Given the description of an element on the screen output the (x, y) to click on. 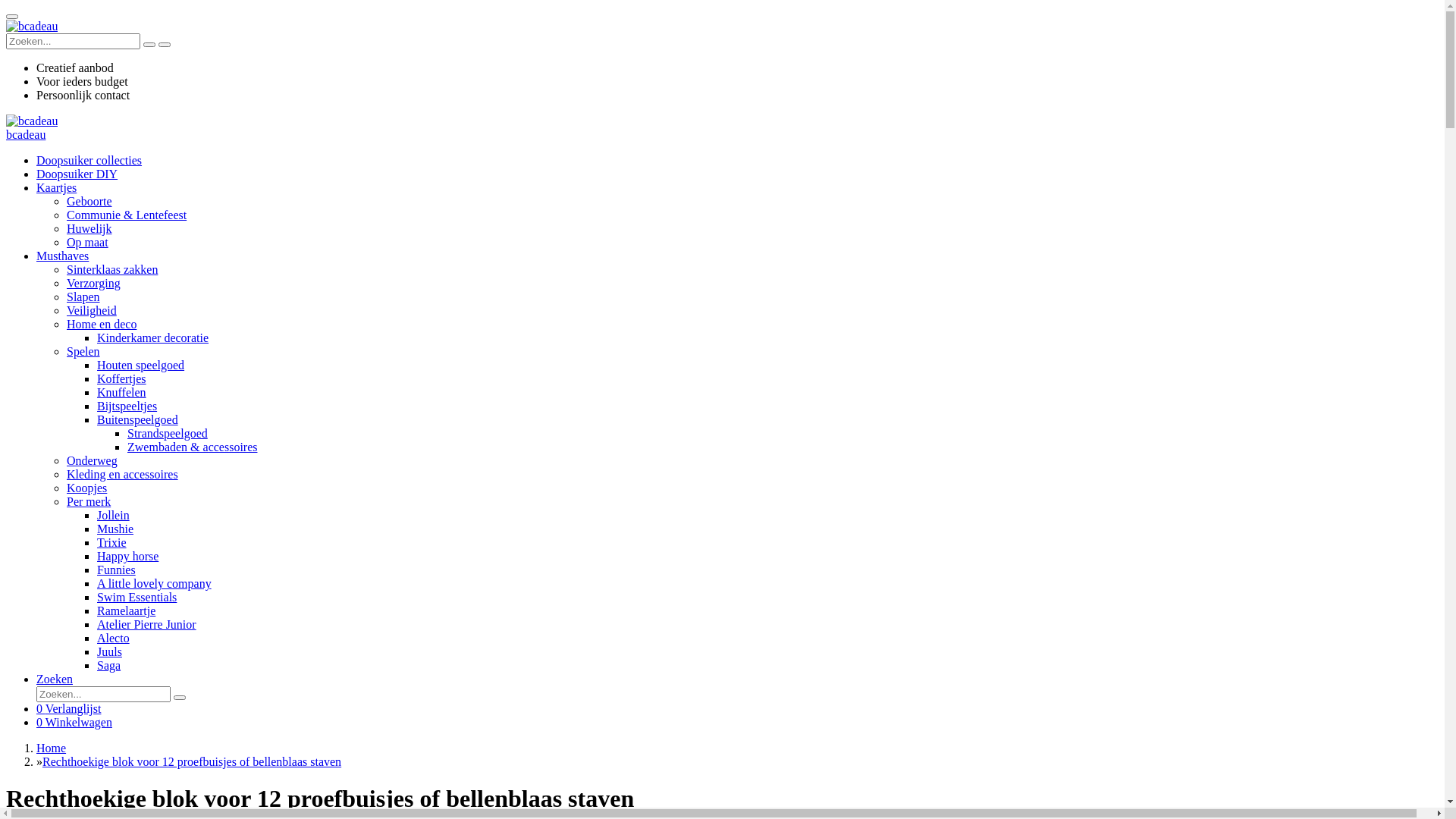
bcadeau Element type: hover (31, 121)
Funnies Element type: text (116, 569)
Bijtspeeltjes Element type: text (126, 405)
0 Winkelwagen Element type: text (74, 721)
Juuls Element type: text (109, 651)
Musthaves Element type: text (62, 255)
bcadeau Element type: hover (31, 26)
Doopsuiker collecties Element type: text (88, 159)
Geboorte Element type: text (89, 200)
Op maat Element type: text (87, 241)
Saga Element type: text (108, 664)
Mushie Element type: text (115, 528)
0 Verlanglijst Element type: text (68, 708)
Sinterklaas zakken Element type: text (111, 269)
bcadeau Element type: text (25, 134)
Veiligheid Element type: text (91, 310)
Home en deco Element type: text (101, 323)
Happy horse Element type: text (127, 555)
Doopsuiker DIY Element type: text (76, 173)
Kaartjes Element type: text (56, 187)
Jollein Element type: text (113, 514)
Kleding en accessoires Element type: text (122, 473)
Buitenspeelgoed Element type: text (137, 419)
Home Element type: text (50, 747)
Onderweg Element type: text (91, 460)
Swim Essentials Element type: text (136, 596)
Koopjes Element type: text (86, 487)
Strandspeelgoed Element type: text (167, 432)
Spelen Element type: text (83, 351)
A little lovely company Element type: text (154, 583)
Trixie Element type: text (111, 542)
Alecto Element type: text (113, 637)
Huwelijk Element type: text (89, 228)
Koffertjes Element type: text (121, 378)
Communie & Lentefeest Element type: text (126, 214)
Knuffelen Element type: text (121, 391)
Houten speelgoed Element type: text (140, 364)
Kinderkamer decoratie Element type: text (152, 337)
Verzorging Element type: text (93, 282)
Per merk Element type: text (88, 501)
Slapen Element type: text (83, 296)
Atelier Pierre Junior Element type: text (146, 624)
Zwembaden & accessoires Element type: text (192, 446)
Rechthoekige blok voor 12 proefbuisjes of bellenblaas staven Element type: text (191, 761)
Ramelaartje Element type: text (126, 610)
Zoeken Element type: text (54, 678)
